Given the description of an element on the screen output the (x, y) to click on. 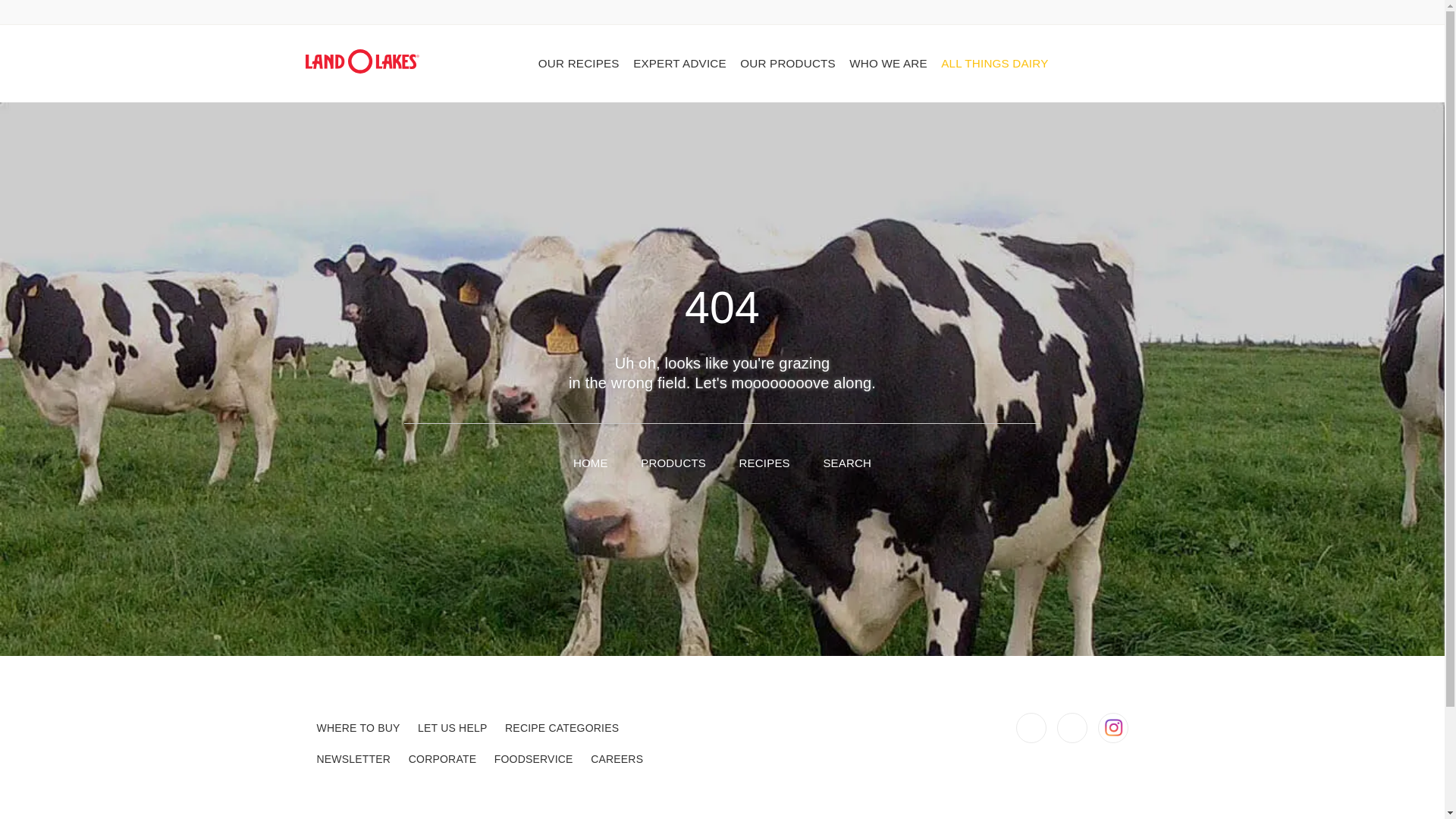
ALL THINGS DAIRY (994, 63)
OUR RECIPES (575, 63)
OUR PRODUCTS (785, 63)
Land O'Lakes Logo (361, 61)
Search Land O'Lakes (1118, 62)
EXPERT ADVICE (676, 63)
SEARCH (1118, 62)
WHO WE ARE (885, 63)
